Given the description of an element on the screen output the (x, y) to click on. 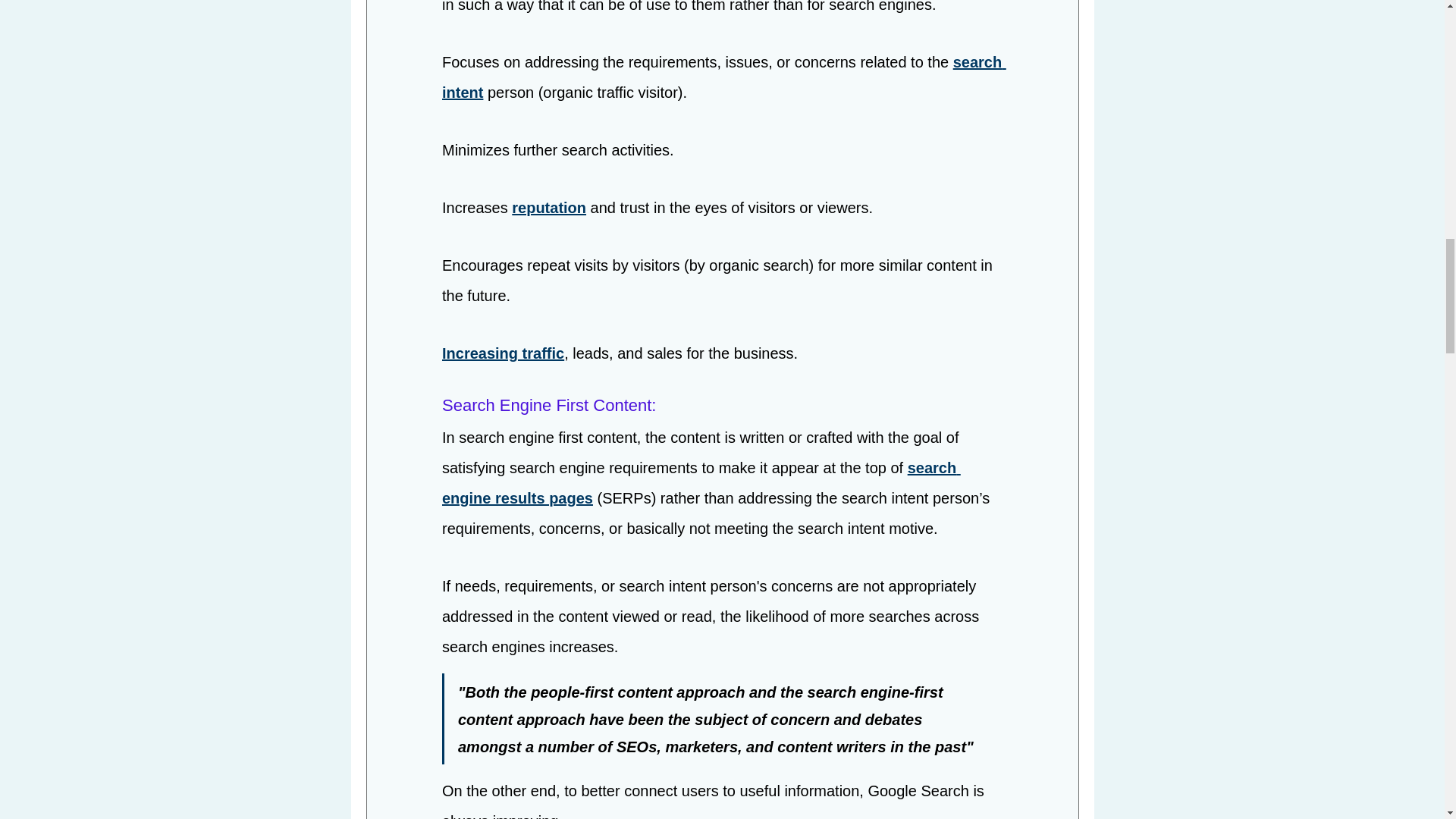
search engine results pages (700, 483)
reputation (549, 208)
Increasing traffic (502, 353)
search intent (723, 77)
